Given the description of an element on the screen output the (x, y) to click on. 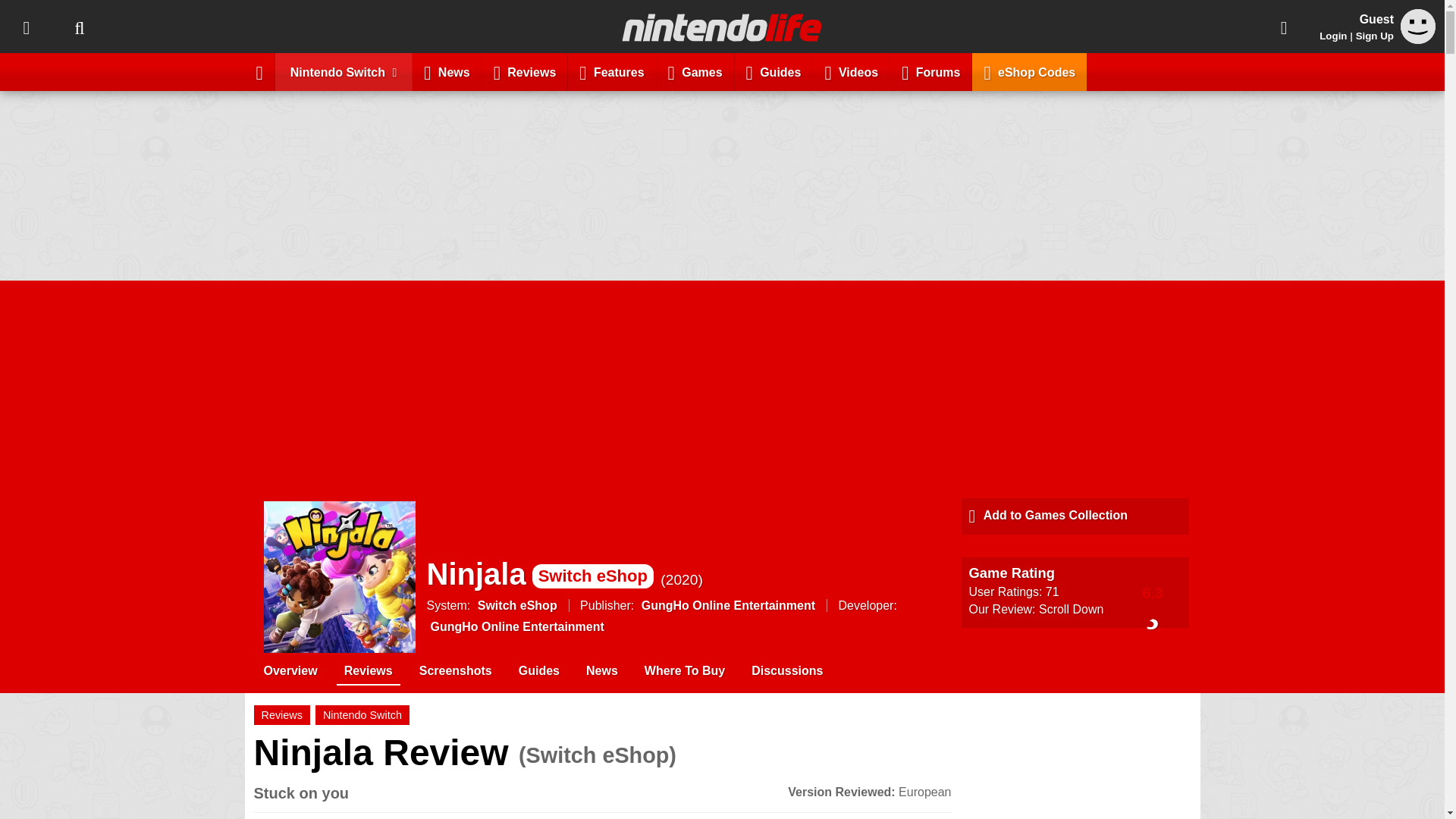
Topics (26, 26)
Guest (1417, 26)
The average score from our readers is 6.32 (1152, 591)
Forums (930, 71)
Nintendo Life (721, 27)
Nintendo Life (721, 27)
Videos (850, 71)
Nintendo Switch (344, 71)
Games (695, 71)
Home (259, 71)
Guest (1417, 39)
NinjalaSwitch eShop (539, 573)
Reviews (525, 71)
eShop Codes (1029, 71)
Sign Up (1374, 35)
